Given the description of an element on the screen output the (x, y) to click on. 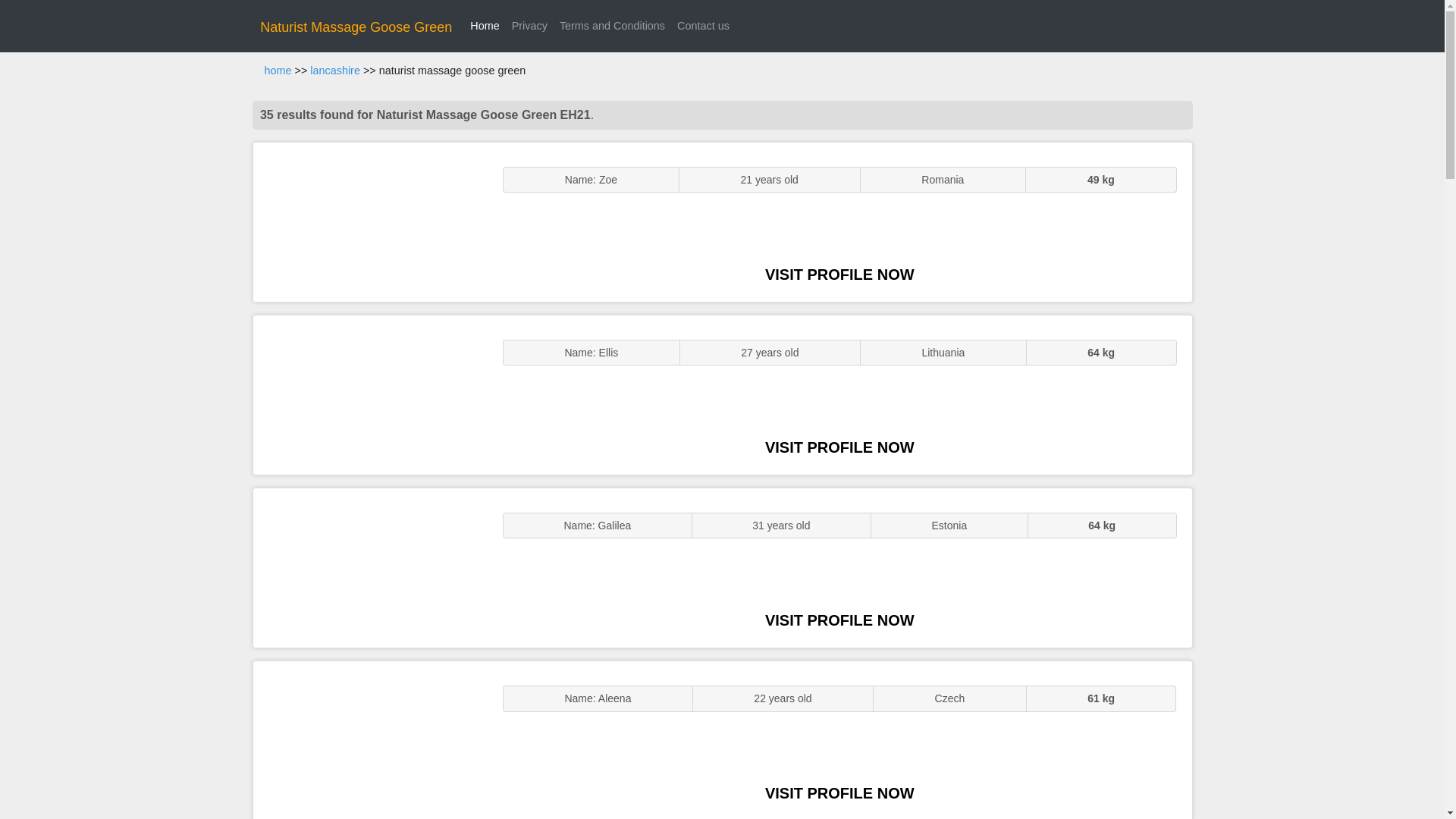
 ENGLISH STUNNER (370, 222)
lancashire (334, 70)
VISIT PROFILE NOW (839, 446)
Naturist Massage Goose Green (355, 27)
home (277, 70)
Sluts (370, 739)
GFE (370, 395)
Privacy (529, 25)
Contact us (703, 25)
VISIT PROFILE NOW (839, 619)
Sexy (370, 567)
VISIT PROFILE NOW (839, 274)
VISIT PROFILE NOW (839, 792)
Terms and Conditions (612, 25)
